Given the description of an element on the screen output the (x, y) to click on. 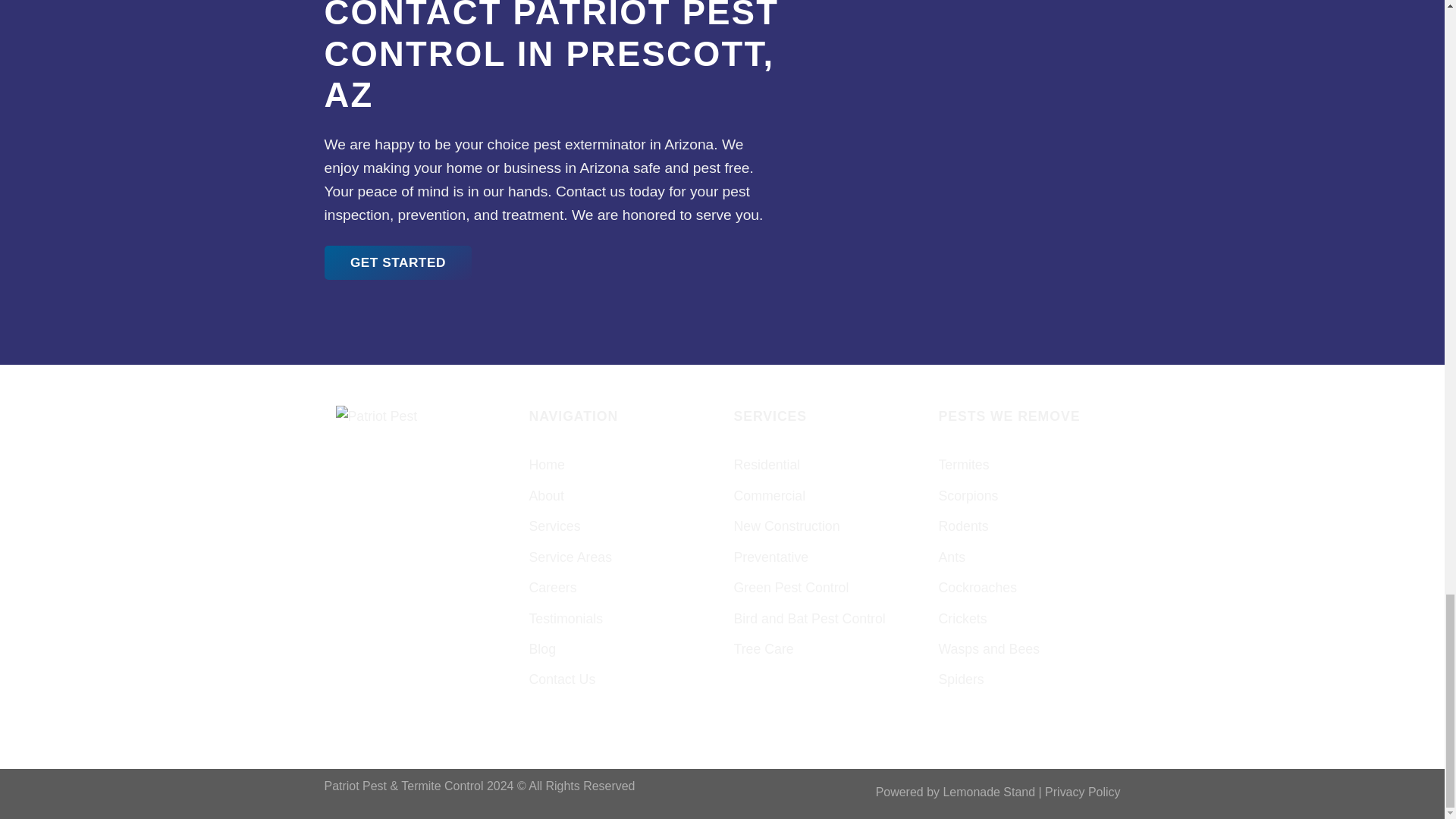
About (546, 495)
Home (546, 464)
Follow on Facebook (350, 459)
GET STARTED (397, 262)
Follow on Twitter (380, 459)
